Given the description of an element on the screen output the (x, y) to click on. 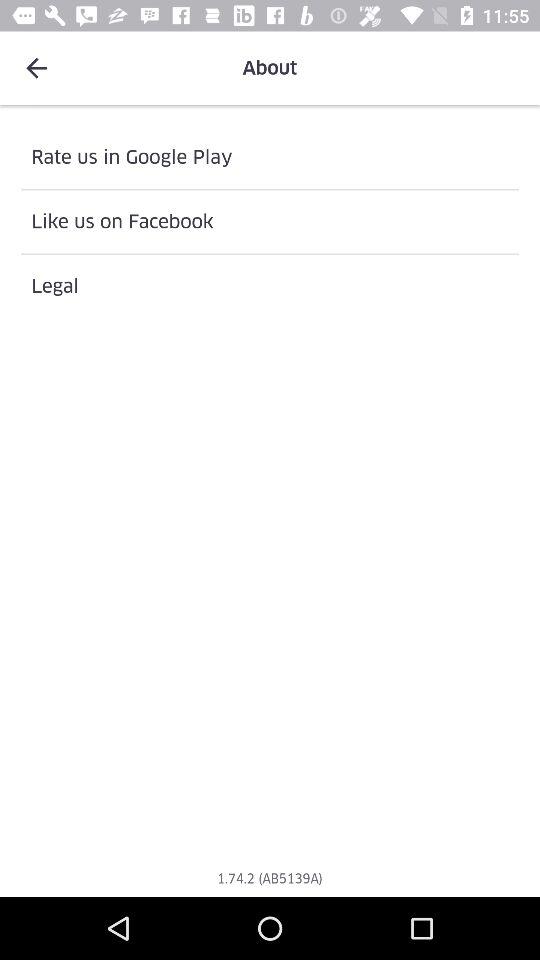
press the item above the legal item (270, 221)
